Given the description of an element on the screen output the (x, y) to click on. 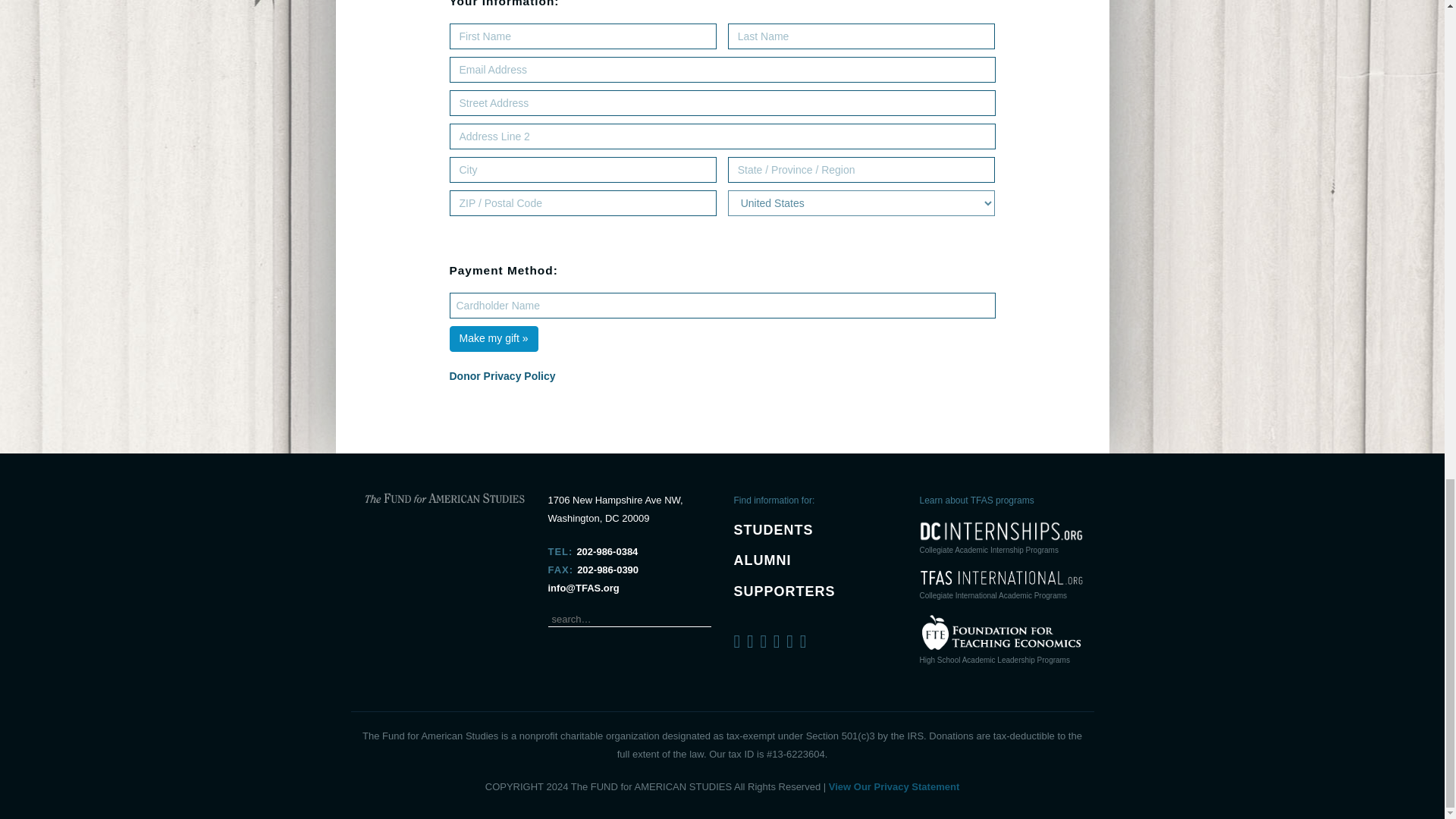
STUDENTS (773, 529)
ALUMNI (762, 560)
SUPPORTERS (784, 590)
Donor Privacy Policy (501, 376)
